Given the description of an element on the screen output the (x, y) to click on. 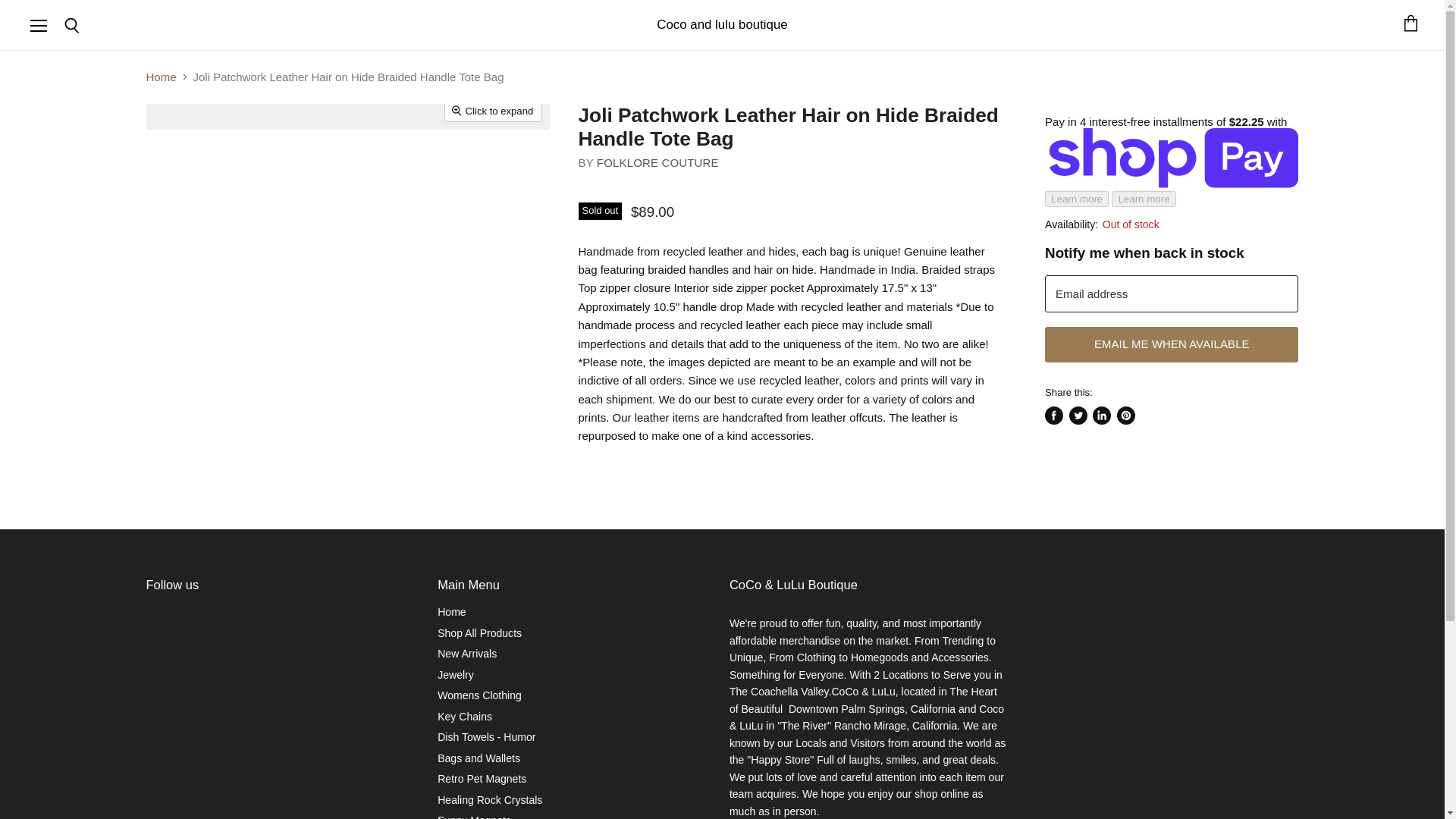
Search (71, 26)
Coco and lulu boutique (721, 24)
Folklore Couture (657, 162)
Menu (39, 24)
